Given the description of an element on the screen output the (x, y) to click on. 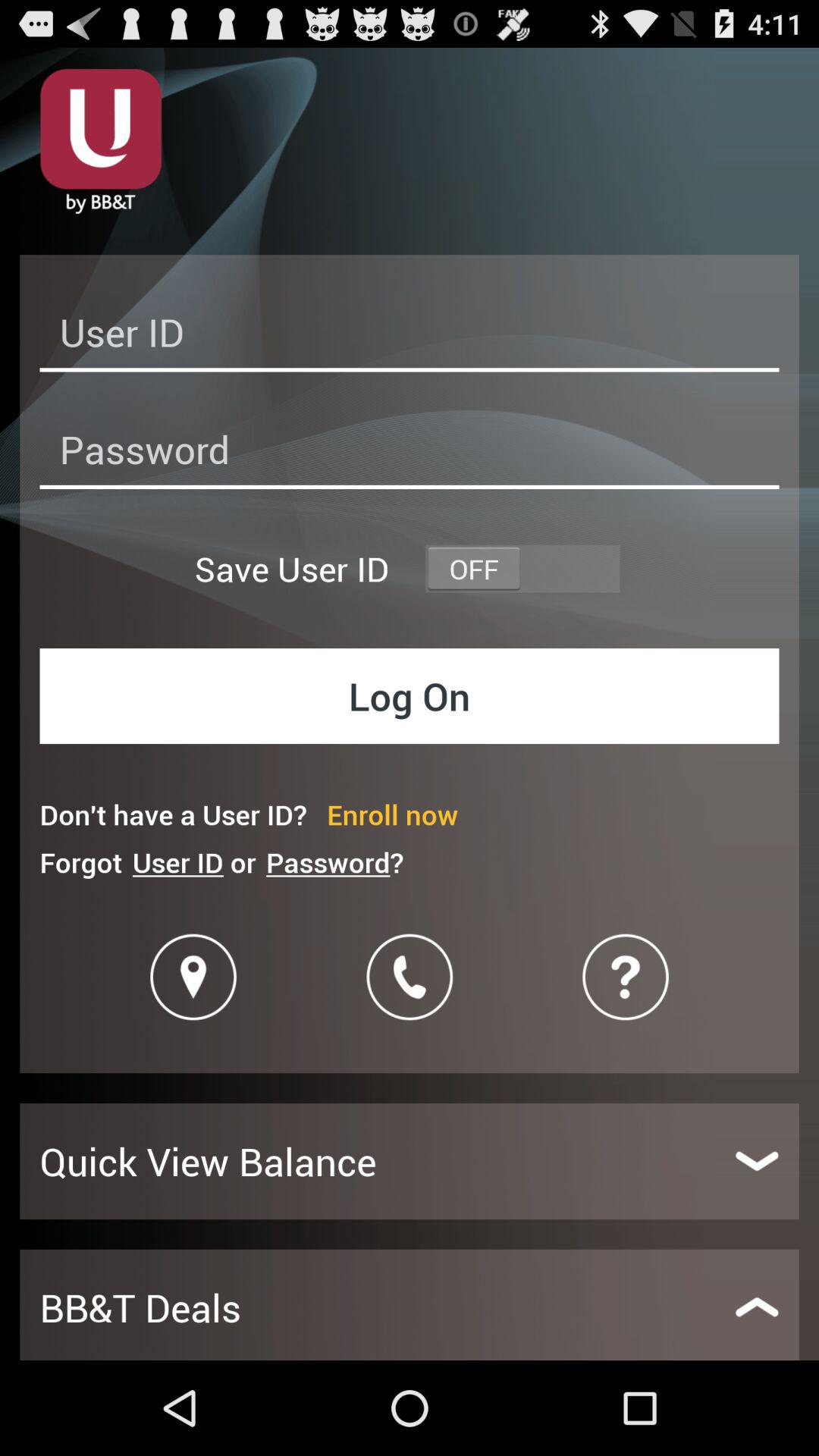
select enroll now item (392, 814)
